Given the description of an element on the screen output the (x, y) to click on. 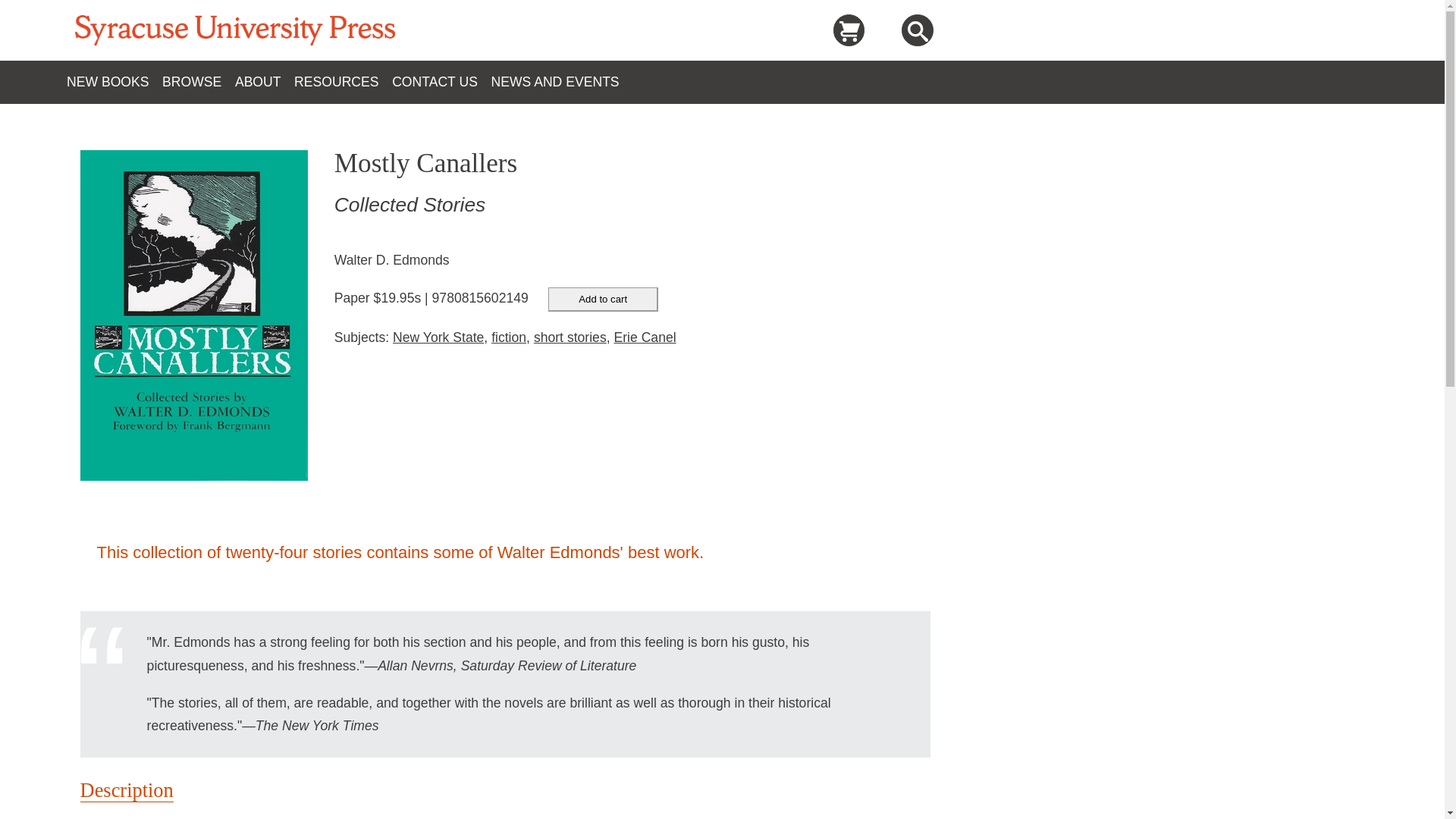
open cartGo to cart (848, 29)
site searchSearch the site (917, 31)
CONTACT US (440, 82)
RESOURCES (342, 82)
Erie Canel (643, 337)
Add to cart (603, 299)
fiction (508, 337)
New York State (438, 337)
open cartGo to cart (850, 31)
NEW BOOKS (113, 82)
ABOUT (264, 82)
Description (126, 790)
site searchSearch the site (917, 29)
NEWS AND EVENTS (560, 82)
BROWSE (197, 82)
